Given the description of an element on the screen output the (x, y) to click on. 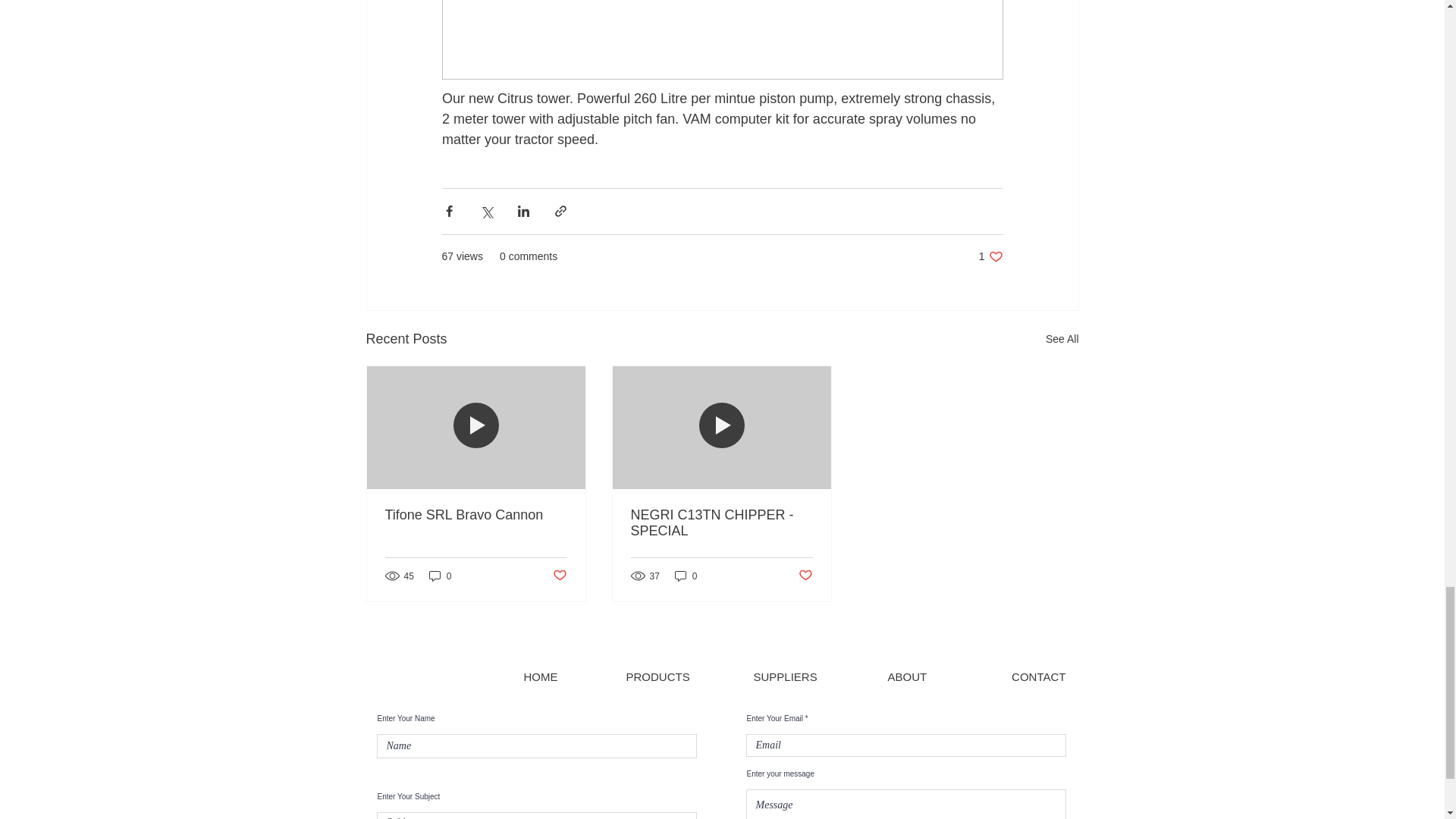
0 (685, 575)
SUPPLIERS (785, 676)
HOME (539, 676)
PRODUCTS (658, 676)
Post not marked as liked (804, 575)
Tifone SRL Bravo Cannon (990, 256)
ABOUT (476, 514)
CONTACT (906, 676)
NEGRI C13TN CHIPPER - SPECIAL (1038, 676)
Post not marked as liked (721, 522)
0 (558, 575)
See All (440, 575)
